Given the description of an element on the screen output the (x, y) to click on. 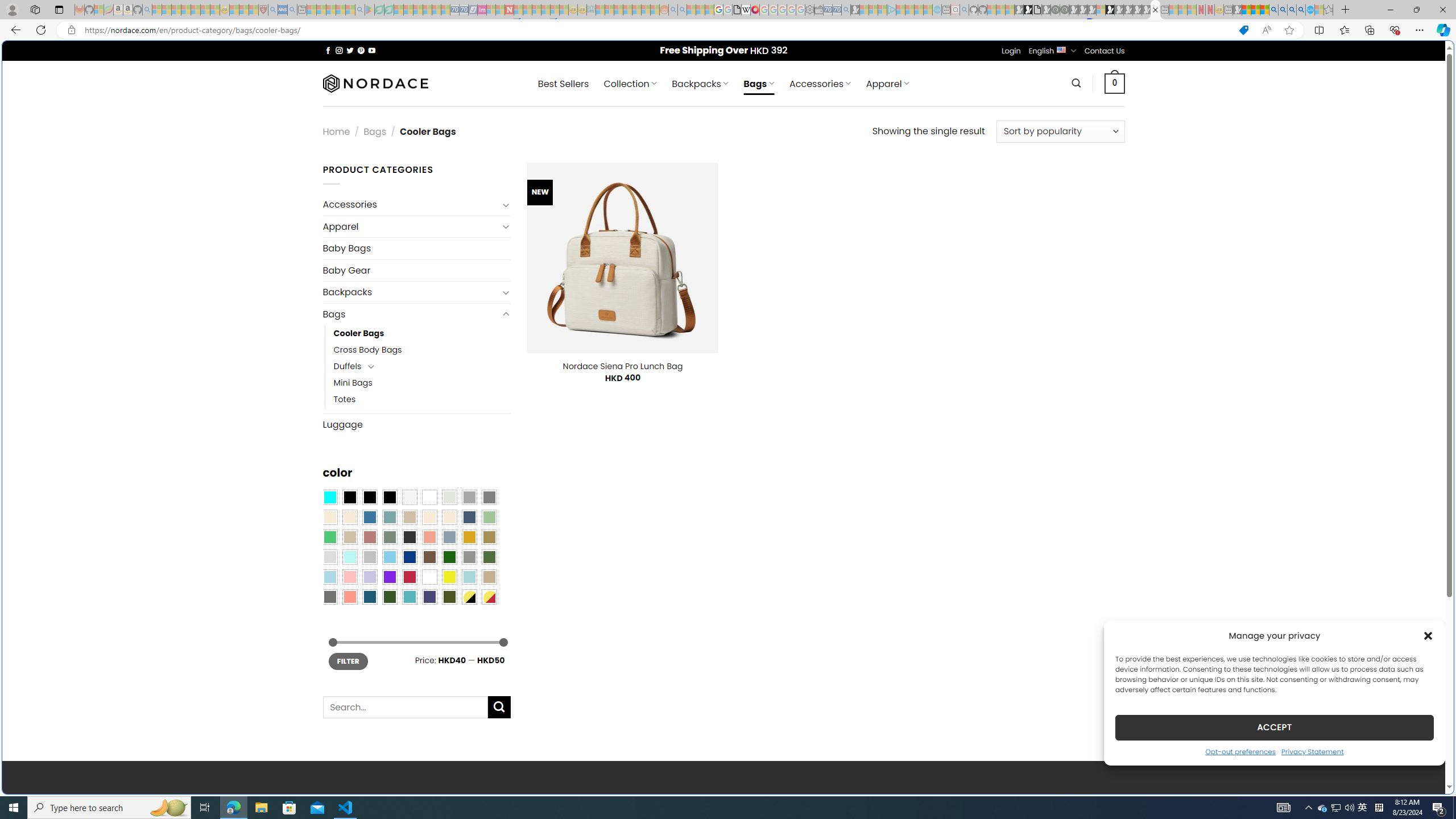
Yellow-Red (488, 596)
Charcoal (408, 536)
Future Focus Report 2024 - Sleeping (1064, 9)
Sage (389, 536)
Nordace - Cooler Bags (1154, 9)
Dusty Blue (449, 536)
Dark Gray (468, 497)
Peach Pink (349, 596)
Aqua Blue (329, 497)
